Given the description of an element on the screen output the (x, y) to click on. 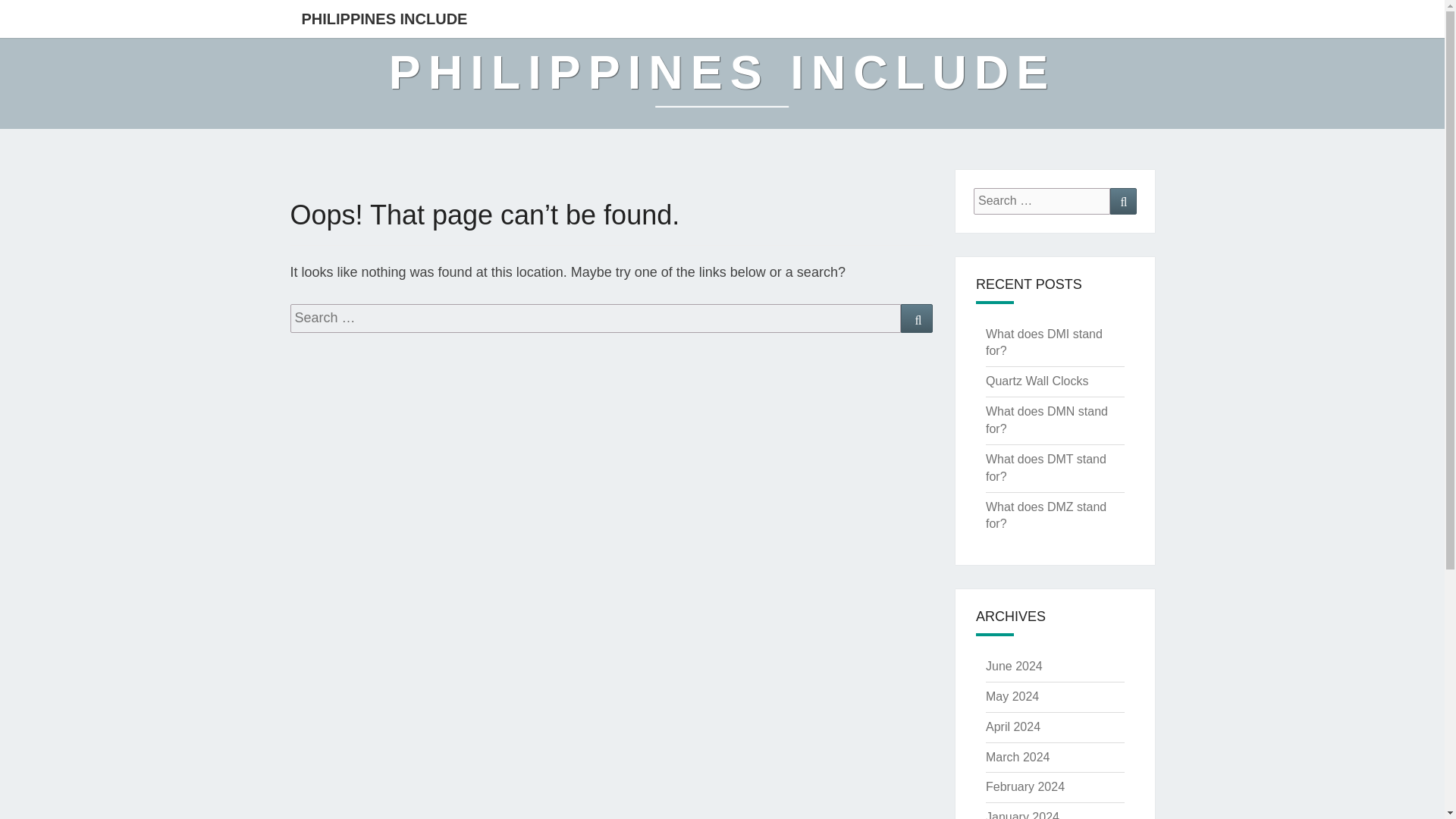
January 2024 (1022, 814)
June 2024 (1013, 666)
What does DMT stand for? (1045, 467)
PHILIPPINES INCLUDE (722, 82)
What does DMZ stand for? (1045, 515)
Search (917, 317)
March 2024 (1017, 757)
Philippines Include (722, 82)
May 2024 (1012, 696)
PHILIPPINES INCLUDE (384, 18)
Search for: (1041, 201)
Quartz Wall Clocks (1036, 380)
Search for: (595, 317)
What does DMI stand for? (1043, 342)
April 2024 (1013, 726)
